Given the description of an element on the screen output the (x, y) to click on. 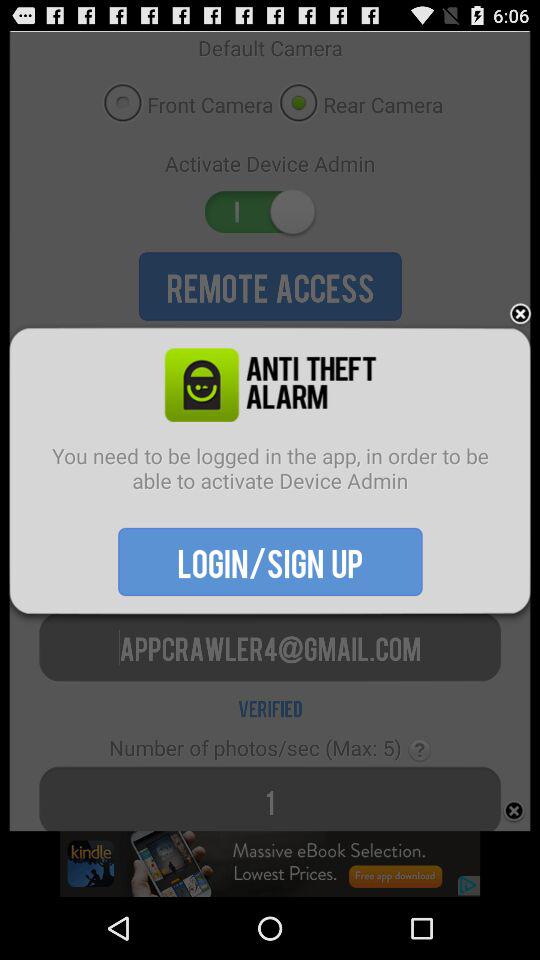
click the icon at the top right corner (520, 314)
